Given the description of an element on the screen output the (x, y) to click on. 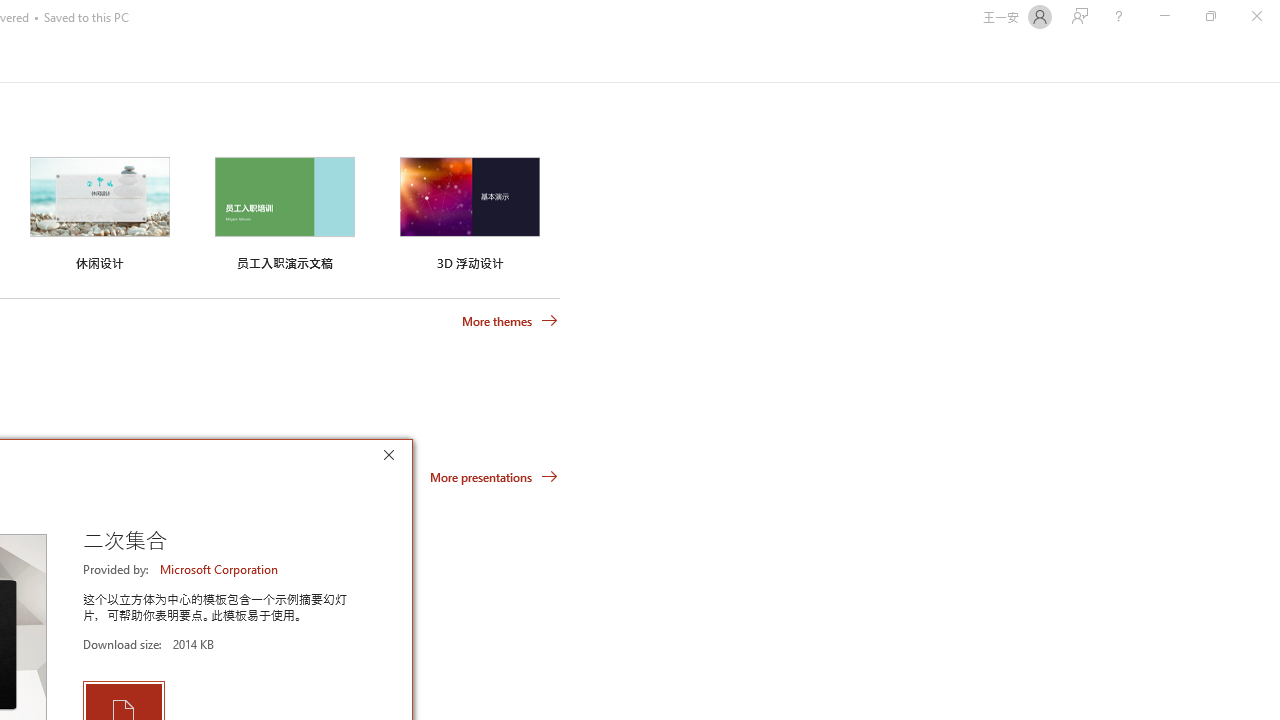
Microsoft Corporation (220, 569)
More themes (509, 321)
More presentations (493, 476)
Class: NetUIScrollBar (1271, 59)
